Given the description of an element on the screen output the (x, y) to click on. 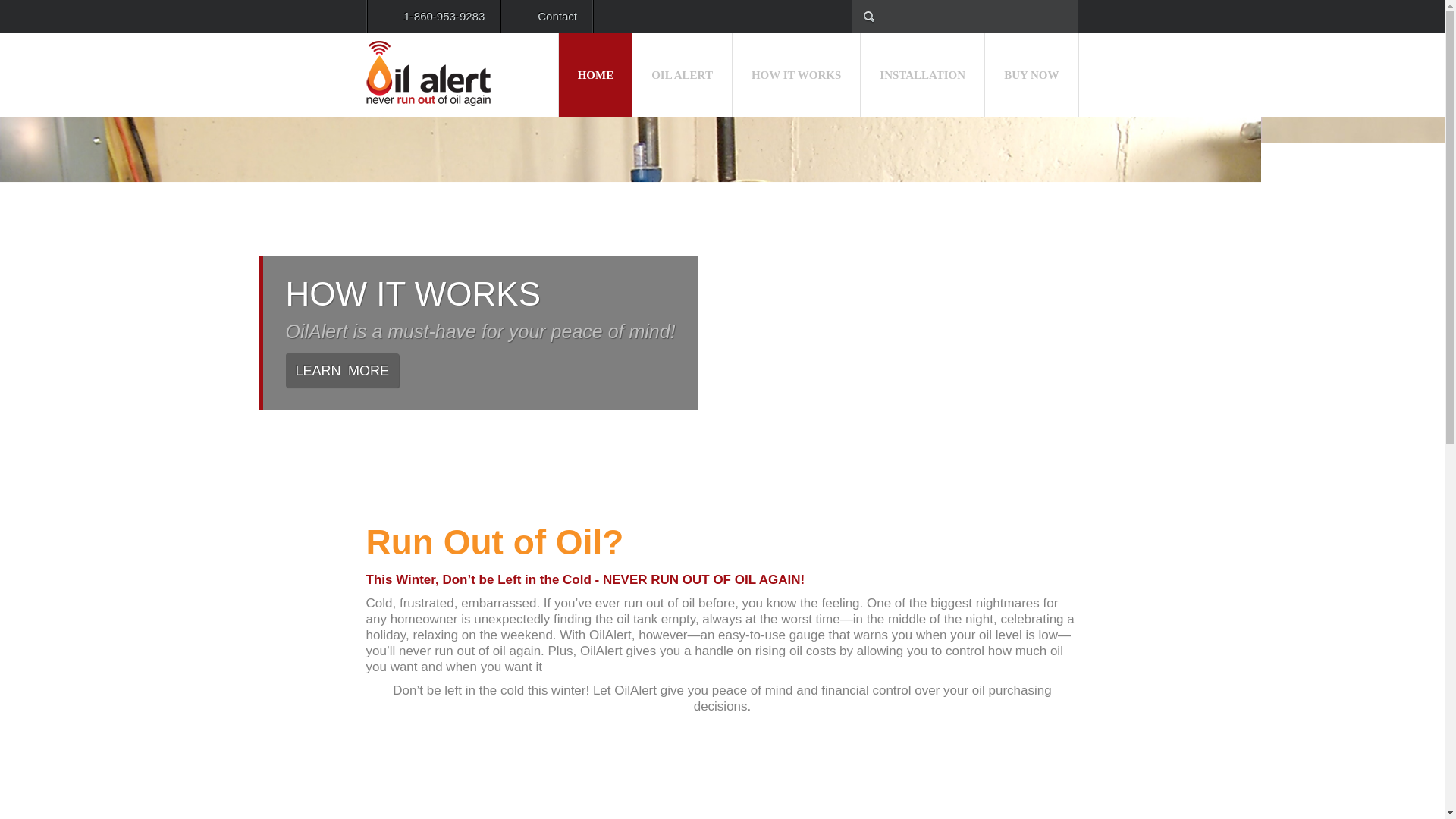
INSTALLATION (922, 75)
HOW IT WORKS (796, 75)
BUY NOW (1031, 75)
Search (88, 16)
OIL ALERT (681, 75)
Contact (546, 16)
HOME (596, 75)
LEARN MORE (341, 369)
